Given the description of an element on the screen output the (x, y) to click on. 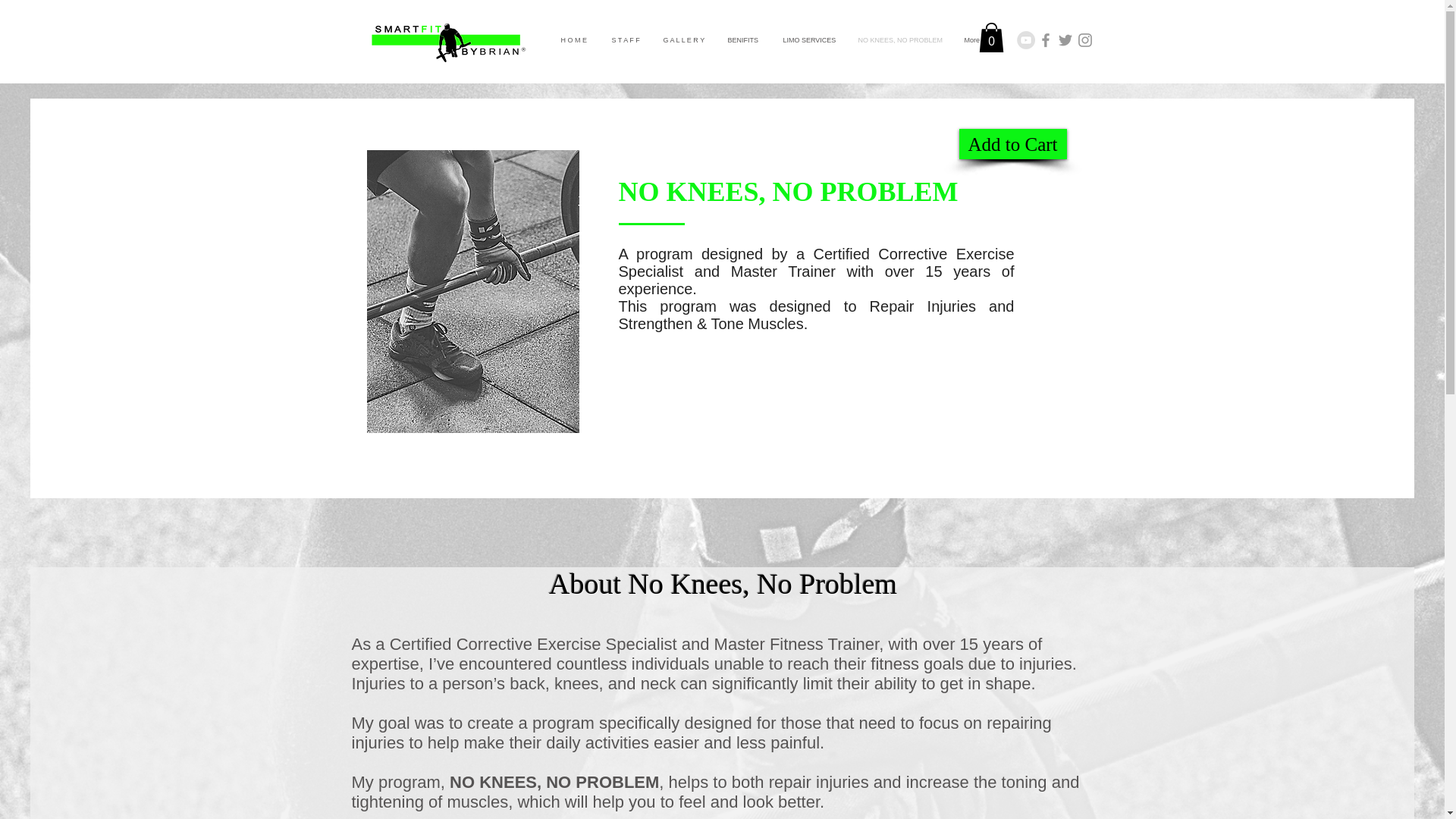
NO KNEES, NO PROBLEM (898, 39)
G A L L E R Y (684, 39)
BENIFITS (743, 39)
Add to Cart (1011, 143)
H O M E (573, 39)
LIMO SERVICES (809, 39)
S T A F F (625, 39)
